Given the description of an element on the screen output the (x, y) to click on. 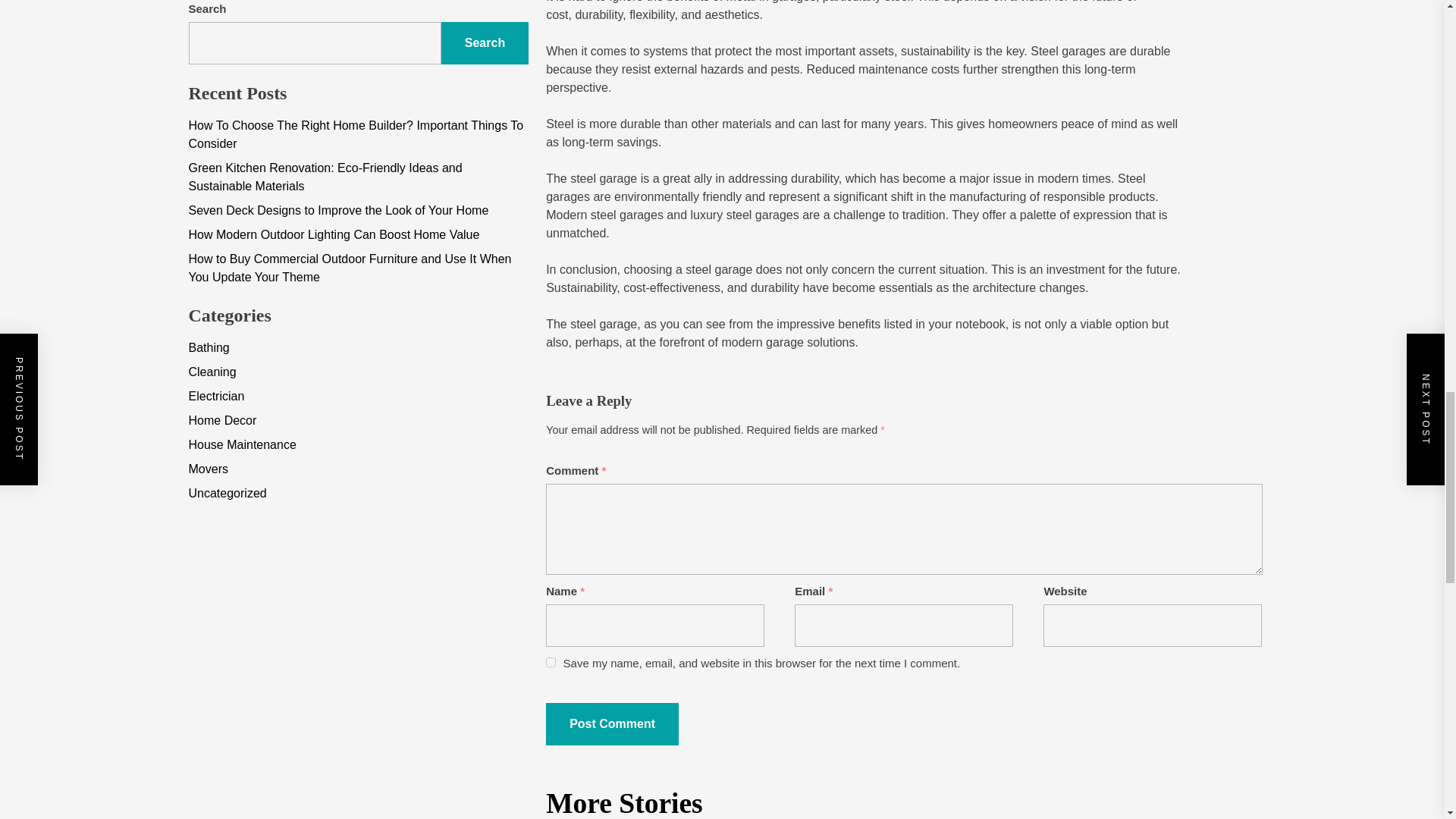
yes (551, 662)
Post Comment (612, 723)
Post Comment (612, 723)
